Given the description of an element on the screen output the (x, y) to click on. 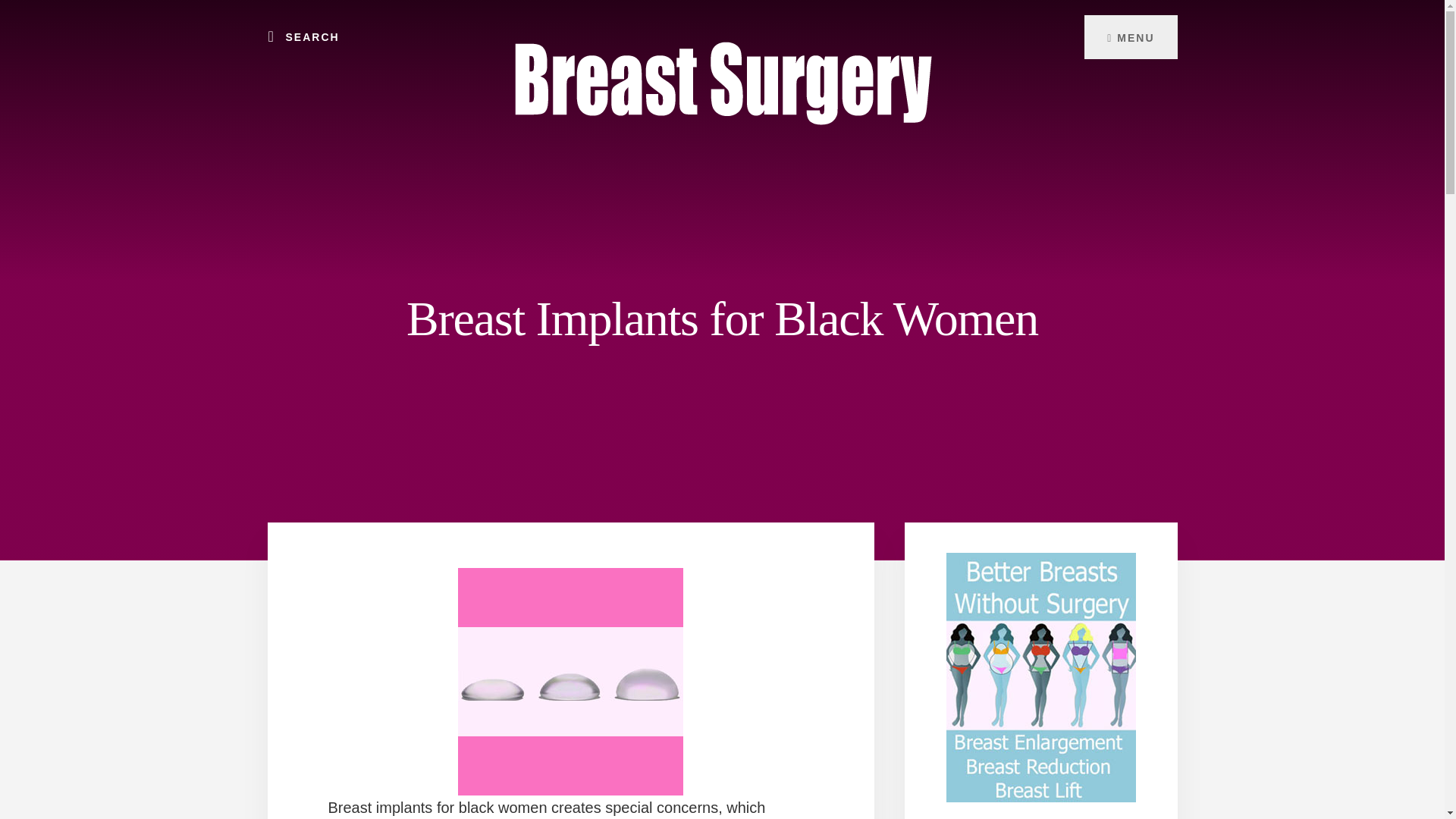
MENU (1130, 36)
